Given the description of an element on the screen output the (x, y) to click on. 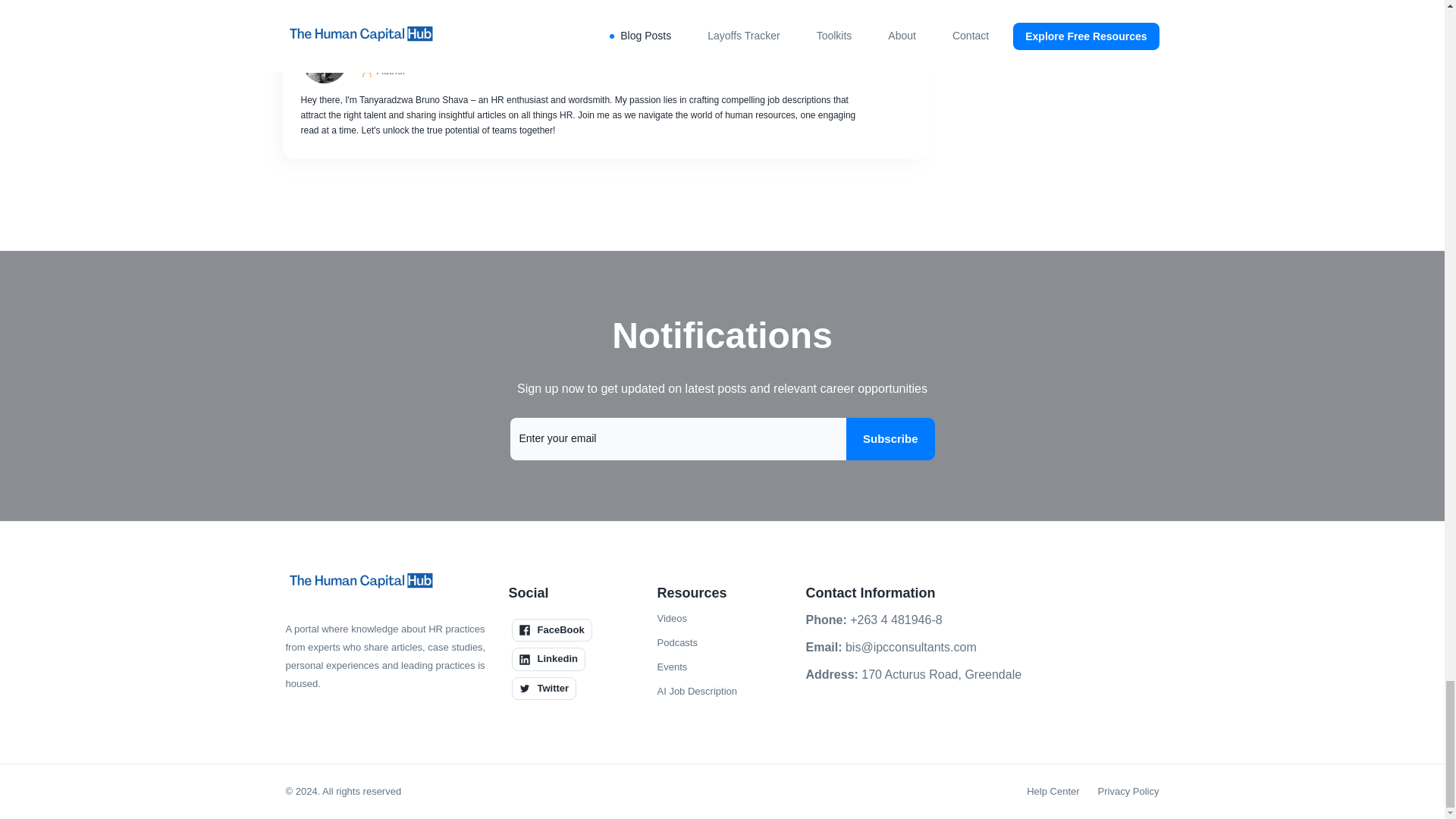
Tanyaradzwa Shava (608, 47)
Podcasts (676, 642)
FaceBook (551, 630)
Twitter (543, 688)
Videos (671, 618)
Subscribe (889, 438)
Linkedin (548, 658)
